Given the description of an element on the screen output the (x, y) to click on. 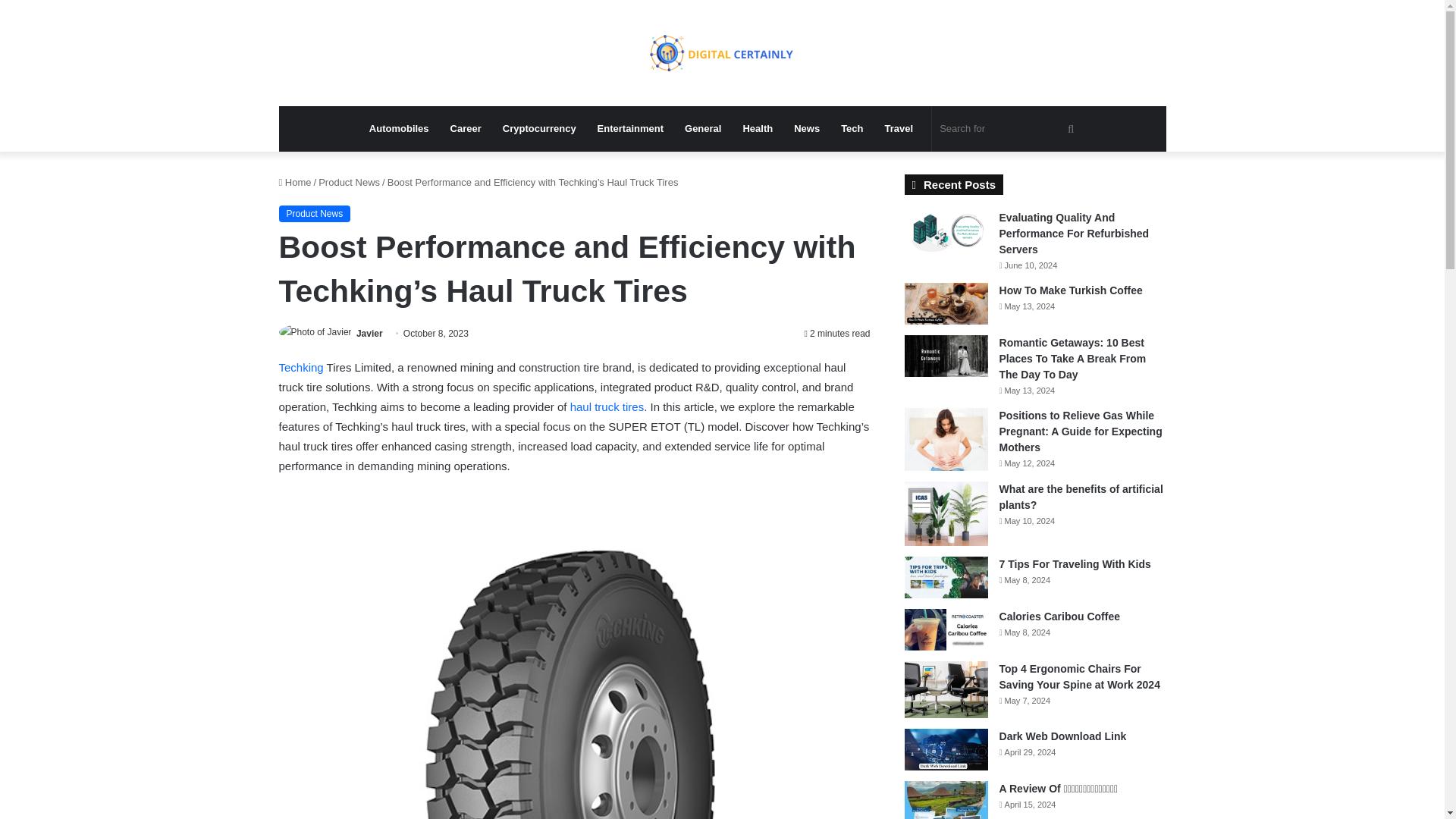
Entertainment (630, 128)
Home (295, 182)
Product News (314, 213)
Tech (851, 128)
Automobiles (398, 128)
haul truck tires (607, 406)
Javier (369, 333)
Travel (899, 128)
Javier (369, 333)
Product News (349, 182)
Digital Certainly (721, 53)
News (806, 128)
Career (465, 128)
Search for (1008, 128)
Techking (301, 367)
